Given the description of an element on the screen output the (x, y) to click on. 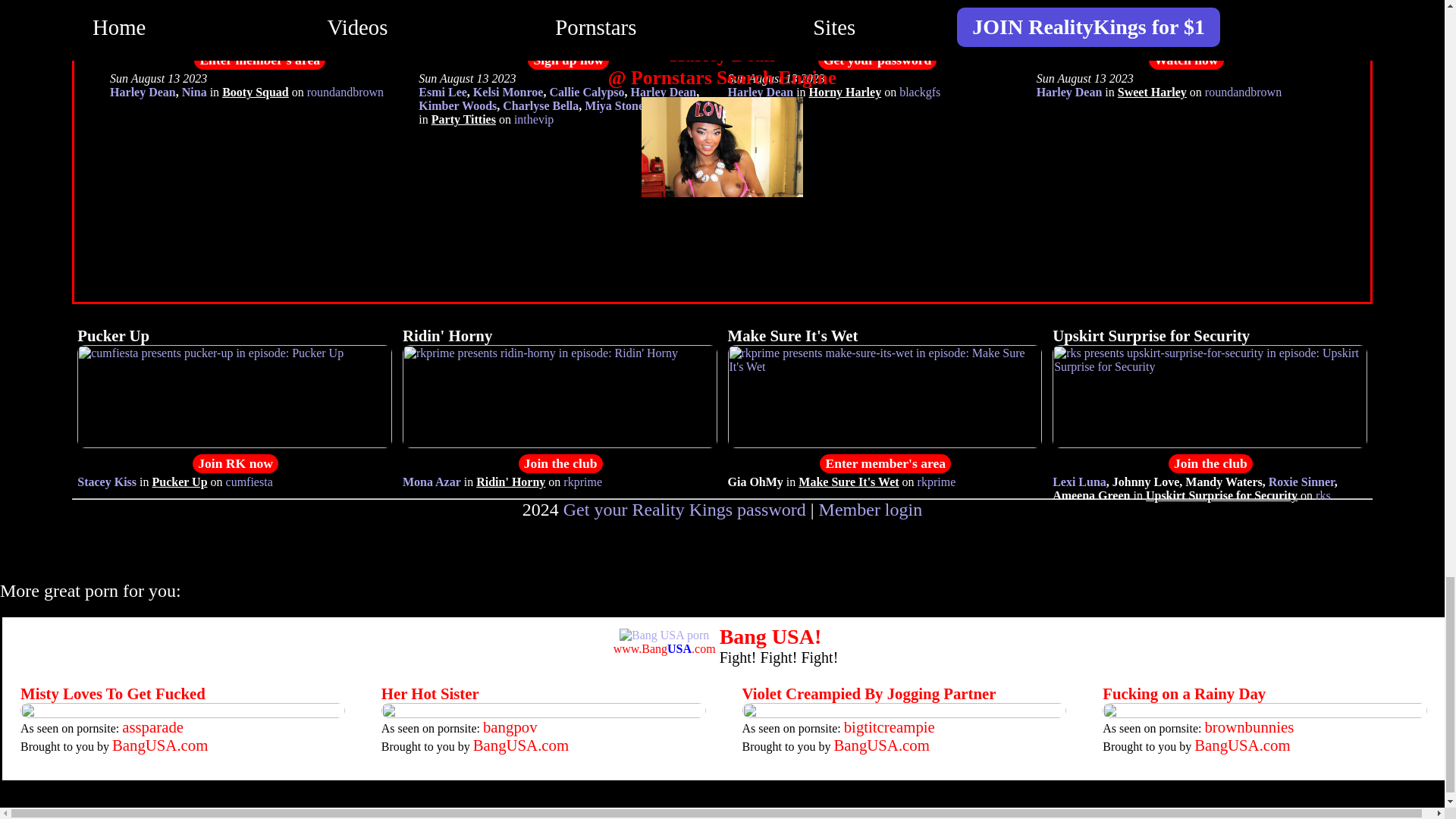
inthevip presents party-titties in episode: Party Titties (463, 119)
inthevip presents party-titties in episode: Party Titties (567, 40)
roundandbrown presents booty-squad in episode: Booty Squad (255, 91)
roundandbrown presents booty-squad in episode: Booty Squad (258, 40)
